Given the description of an element on the screen output the (x, y) to click on. 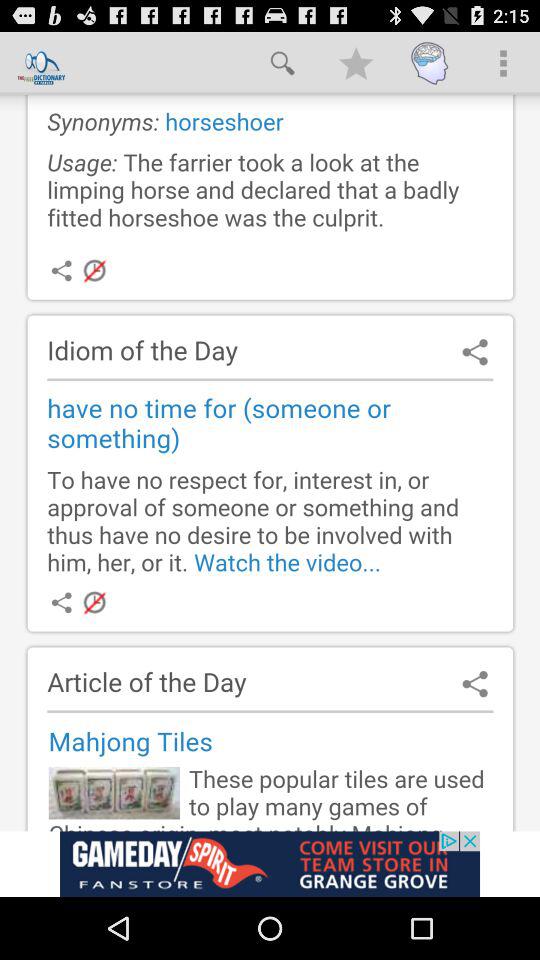
learn about this product (270, 864)
